Given the description of an element on the screen output the (x, y) to click on. 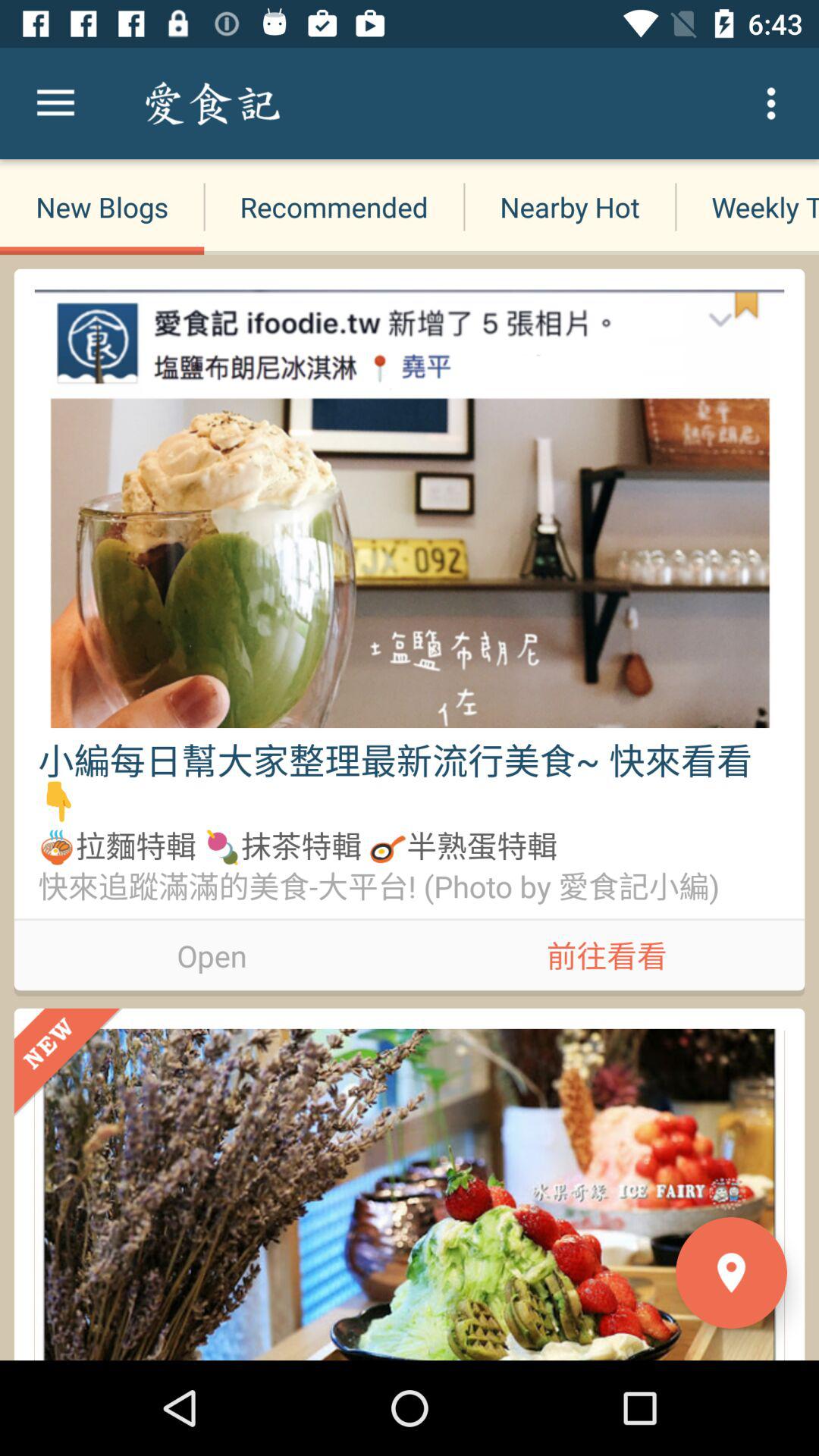
tap new blogs item (102, 206)
